Given the description of an element on the screen output the (x, y) to click on. 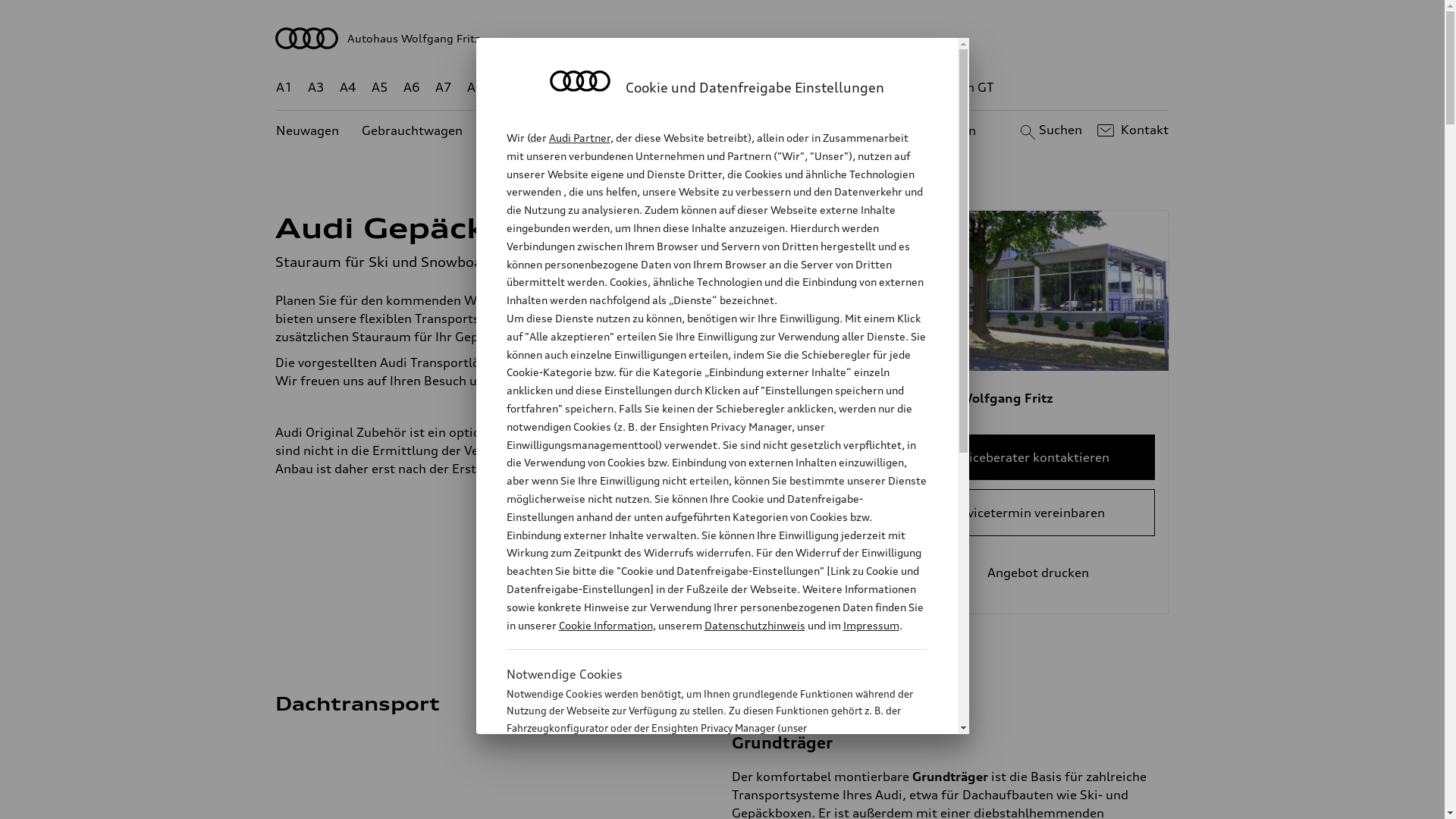
Q4 e-tron Element type: text (592, 87)
Cookie Information Element type: text (700, 802)
Cookie Information Element type: text (605, 624)
Serviceberater kontaktieren Element type: text (1025, 457)
Kundenservice Element type: text (730, 130)
Audi Partner Element type: text (579, 137)
Kontakt Element type: text (1130, 130)
Q7 Element type: text (678, 87)
A3 Element type: text (315, 87)
Q2 Element type: text (507, 87)
RS Element type: text (861, 87)
e-tron GT Element type: text (965, 87)
Datenschutzhinweis Element type: text (753, 624)
g-tron Element type: text (903, 87)
Servicetermin vereinbaren Element type: text (1025, 512)
A7 Element type: text (443, 87)
Suchen Element type: text (1049, 130)
Angebote Element type: text (636, 130)
Autohaus Wolfgang Fritz Element type: text (722, 38)
Neuwagen Element type: text (307, 130)
Q5 Element type: text (645, 87)
A5 Element type: text (379, 87)
Q8 Element type: text (710, 87)
Q3 Element type: text (540, 87)
A4 Element type: text (347, 87)
Impressum Element type: text (871, 624)
Angebot drucken Element type: text (1026, 572)
Q8 e-tron Element type: text (763, 87)
Gebrauchtwagen Element type: text (411, 130)
A8 Element type: text (475, 87)
A6 Element type: text (411, 87)
TT Element type: text (814, 87)
A1 Element type: text (284, 87)
